Given the description of an element on the screen output the (x, y) to click on. 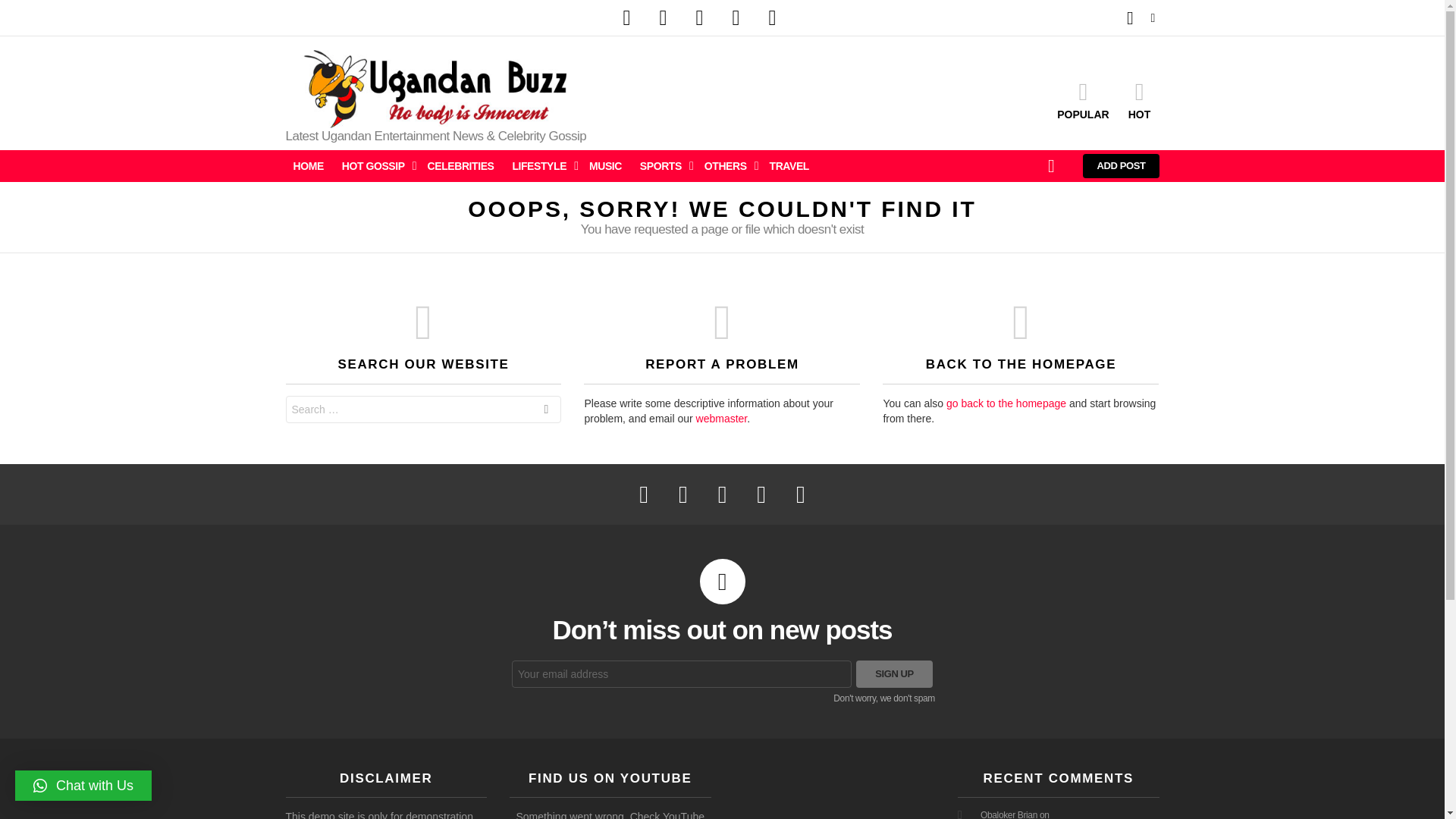
Sign up (894, 673)
CELEBRITIES (461, 165)
FOLLOW US (1152, 17)
LOGIN (1129, 18)
LIFESTYLE (540, 165)
twitter (663, 18)
MUSIC (604, 165)
HOT (1138, 99)
HOME (307, 165)
OTHERS (727, 165)
pinterest (735, 18)
Search for: (422, 409)
Follow us (1152, 17)
SPORTS (662, 165)
POPULAR (1082, 99)
